Given the description of an element on the screen output the (x, y) to click on. 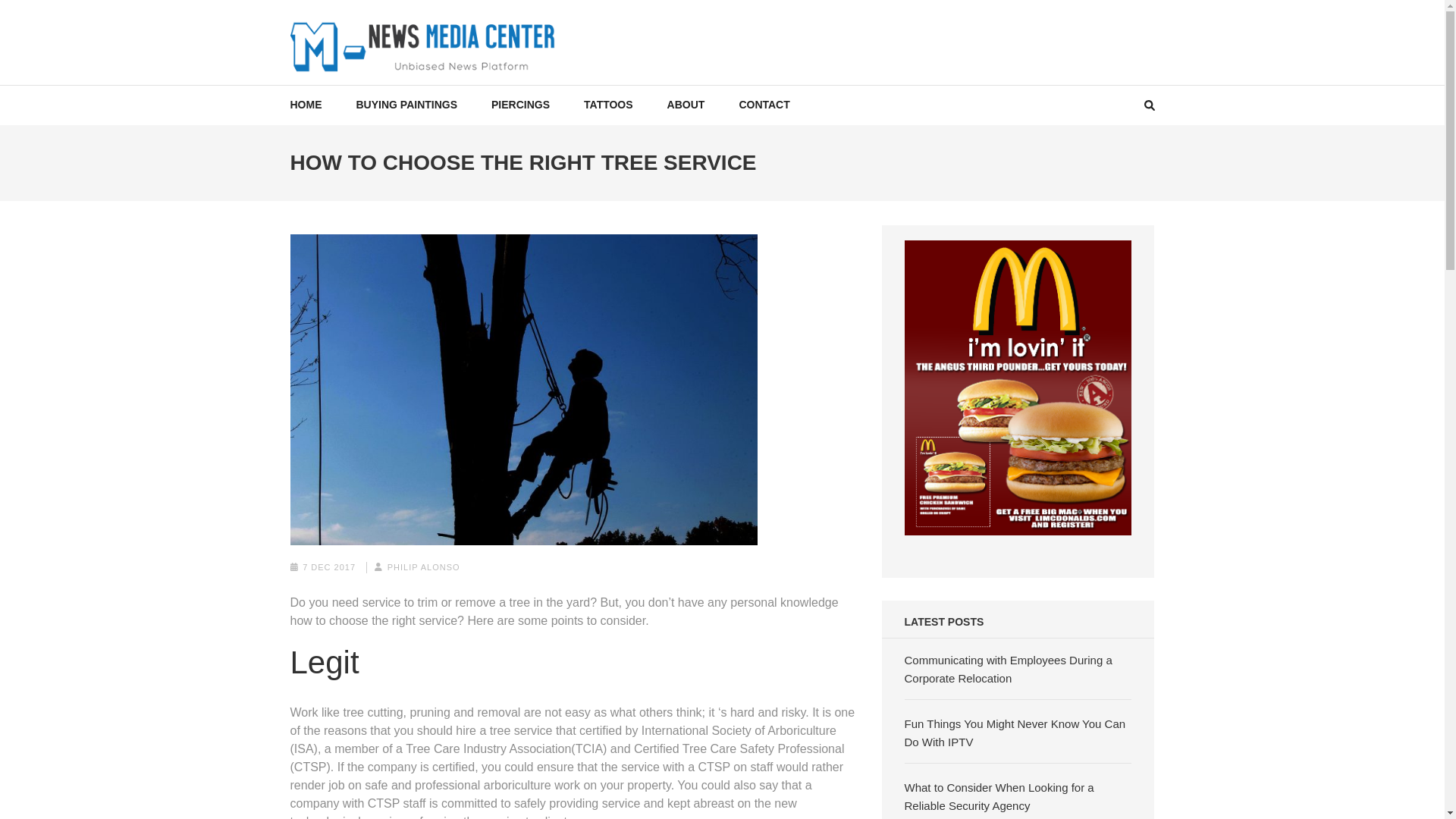
ABOUT (685, 104)
PHILIP ALONSO (423, 566)
7 DEC 2017 (328, 566)
Fun Things You Might Never Know You Can Do With IPTV (1014, 732)
HOME (305, 104)
TATTOOS (608, 104)
BUYING PAINTINGS (407, 104)
Communicating with Employees During a Corporate Relocation (1008, 668)
CONTACT (763, 104)
PIERCINGS (521, 104)
What to Consider When Looking for a Reliable Security Agency (999, 796)
M-NEWS MEDIA CENTER (453, 87)
